Given the description of an element on the screen output the (x, y) to click on. 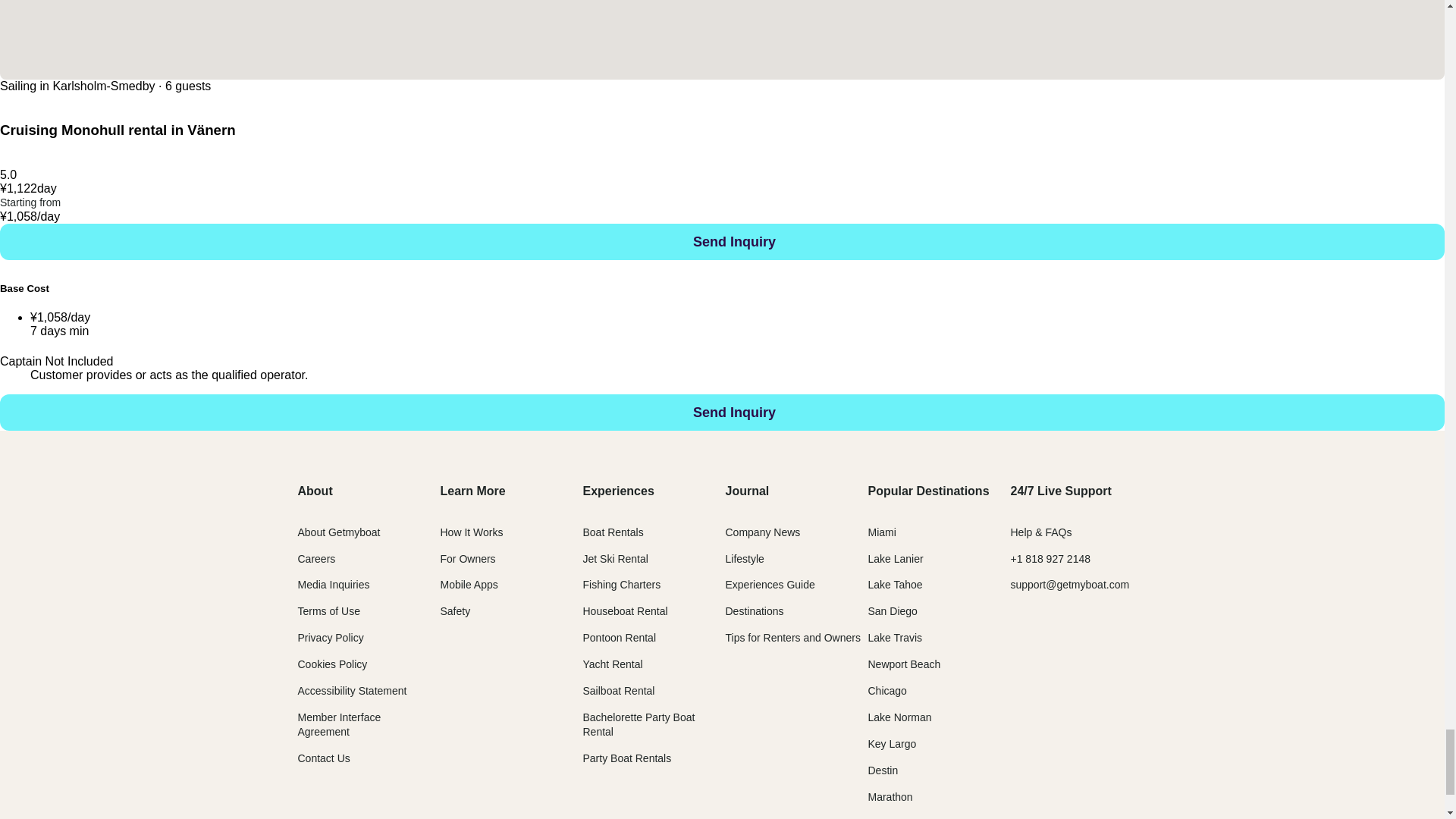
About Getmyboat (338, 532)
Careers (315, 558)
For Owners (467, 558)
Contact Us (323, 758)
Privacy Policy (329, 637)
Cookies Policy (331, 664)
Member Interface Agreement (338, 724)
Media Inquiries (333, 584)
Accessibility Statement (351, 690)
Terms of Use (328, 611)
How It Works (470, 532)
